Given the description of an element on the screen output the (x, y) to click on. 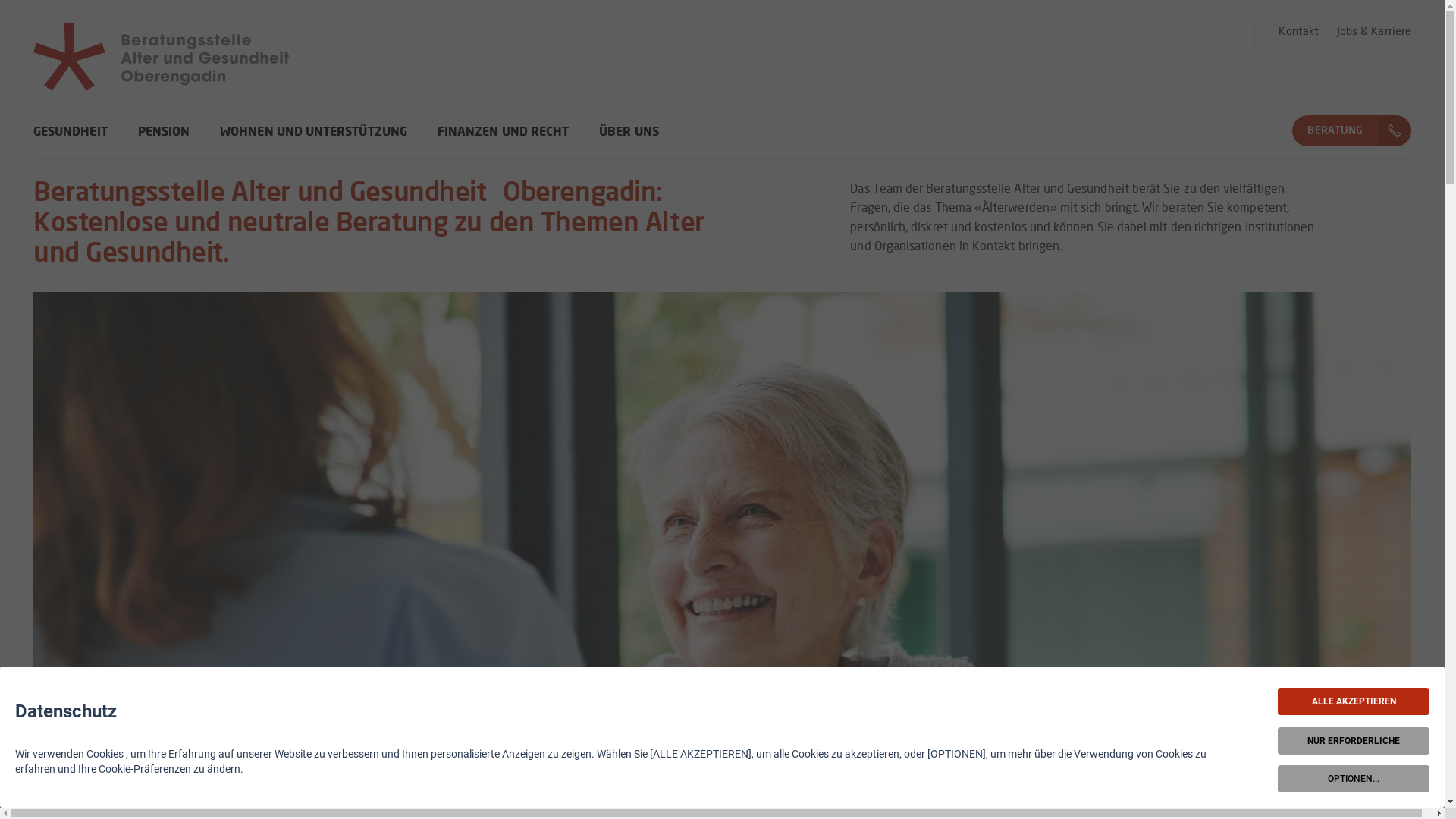
BERATUNG Element type: text (1334, 130)
GESUNDHEIT Element type: text (70, 142)
PENSION Element type: text (164, 142)
NUR ERFORDERLICHE Element type: text (1353, 740)
ALLE AKZEPTIEREN Element type: text (1353, 701)
Jobs & Karriere Element type: text (1373, 31)
FINANZEN UND RECHT Element type: text (502, 142)
Kontakt Element type: text (1298, 31)
OPTIONEN... Element type: text (1353, 778)
